Given the description of an element on the screen output the (x, y) to click on. 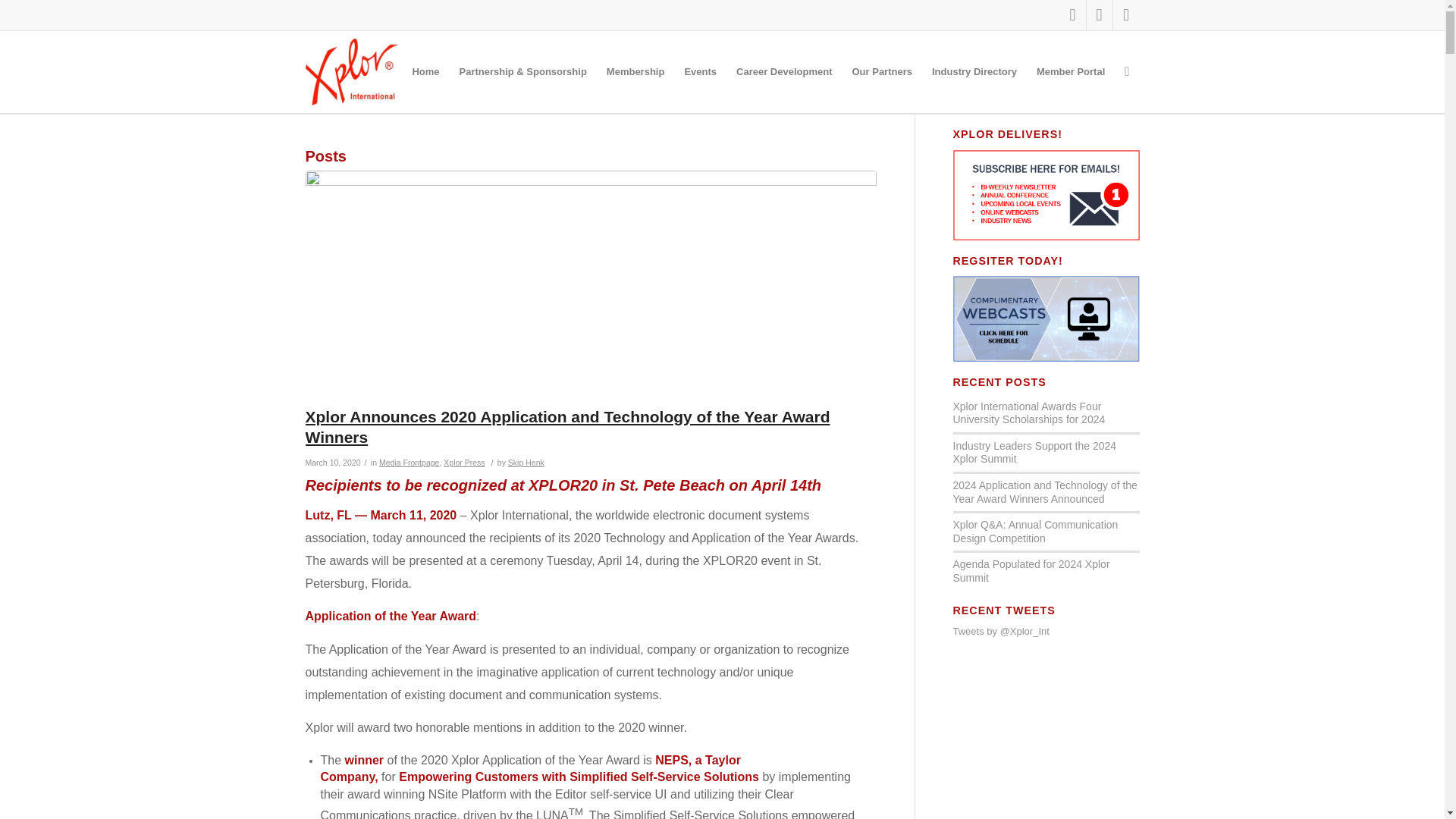
Career Development (783, 71)
Membership (635, 71)
2020 Awards Post Banner (590, 278)
Posts by Skip Henk (526, 461)
